Given the description of an element on the screen output the (x, y) to click on. 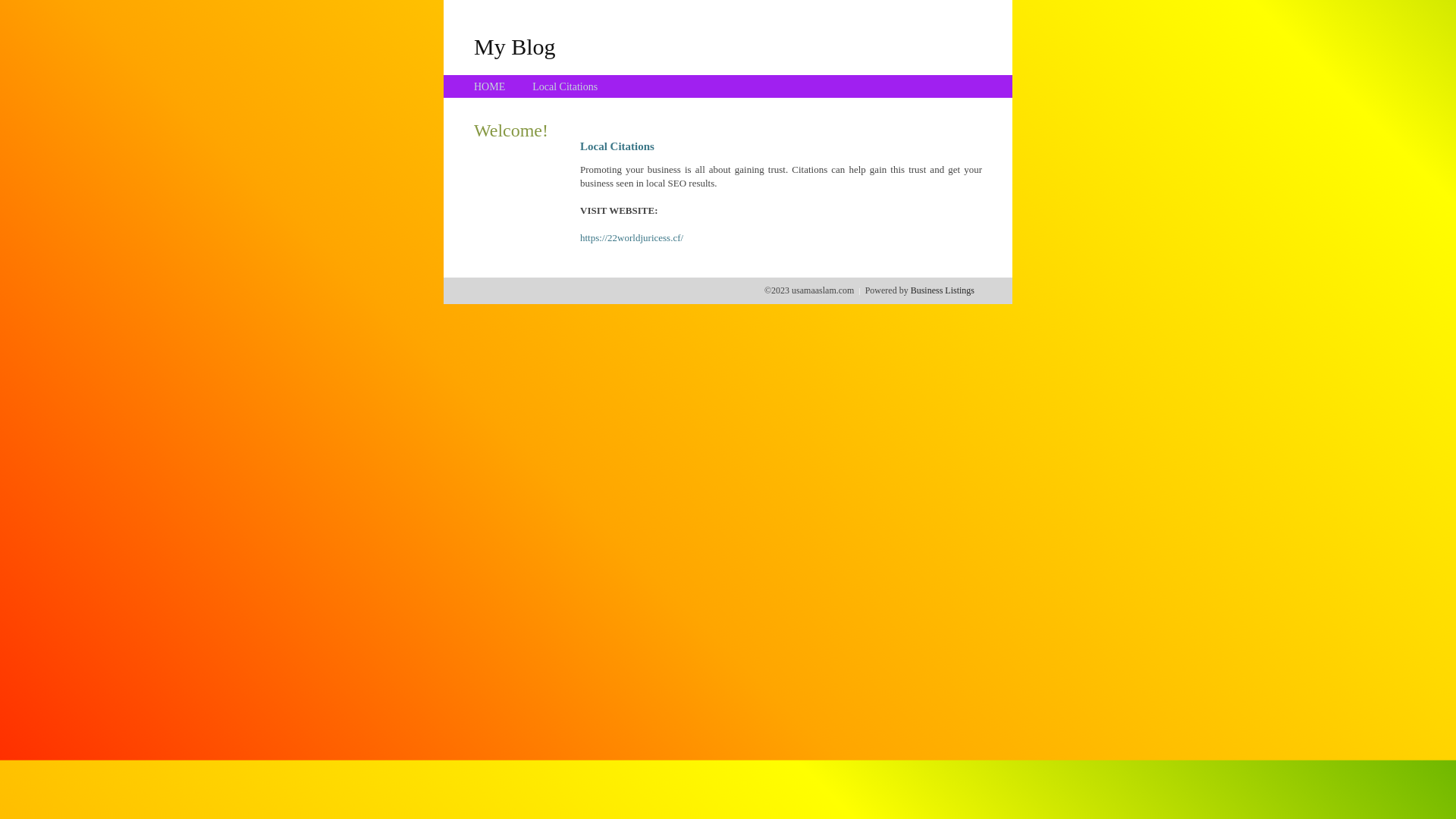
https://22worldjuricess.cf/ Element type: text (631, 237)
Business Listings Element type: text (942, 290)
Local Citations Element type: text (564, 86)
My Blog Element type: text (514, 46)
HOME Element type: text (489, 86)
